Given the description of an element on the screen output the (x, y) to click on. 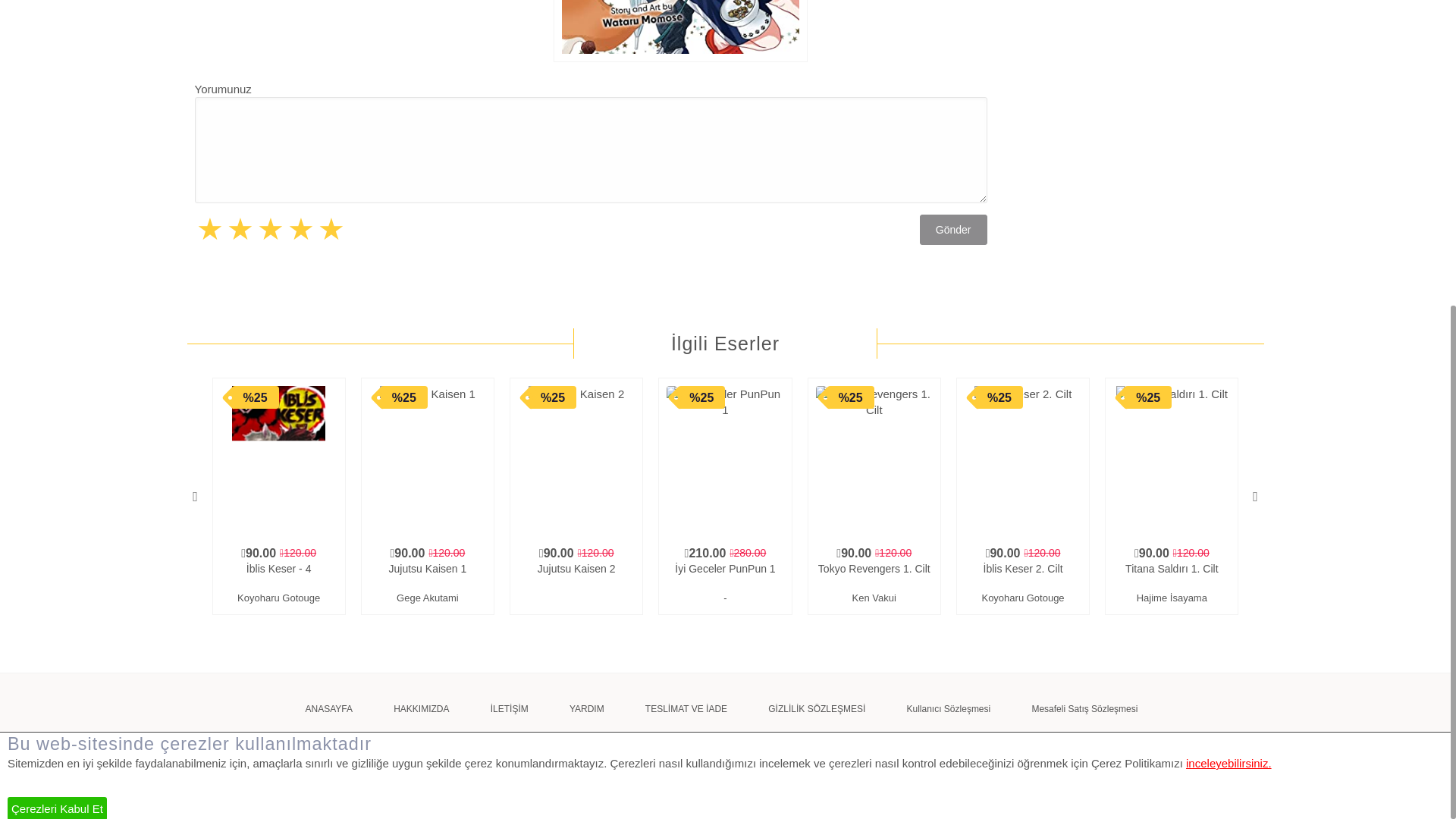
Jujutsu Kaisen 2 (576, 576)
Koyoharu Gotouge (277, 598)
Gege Akutami (427, 598)
Jujutsu Kaisen 1 (427, 576)
